Given the description of an element on the screen output the (x, y) to click on. 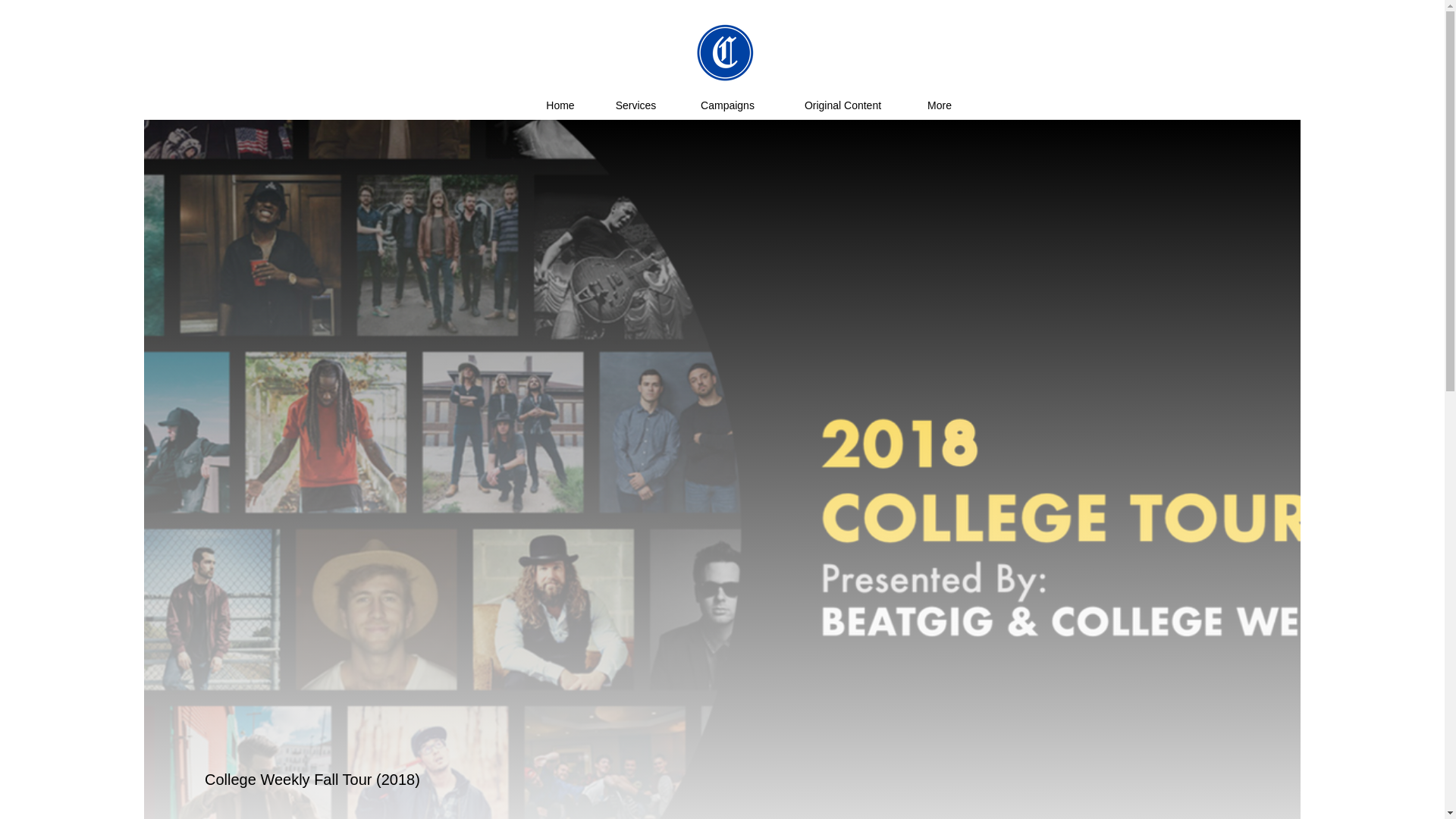
Home (559, 105)
Original Content (842, 105)
Campaigns (727, 105)
Services (636, 105)
